Given the description of an element on the screen output the (x, y) to click on. 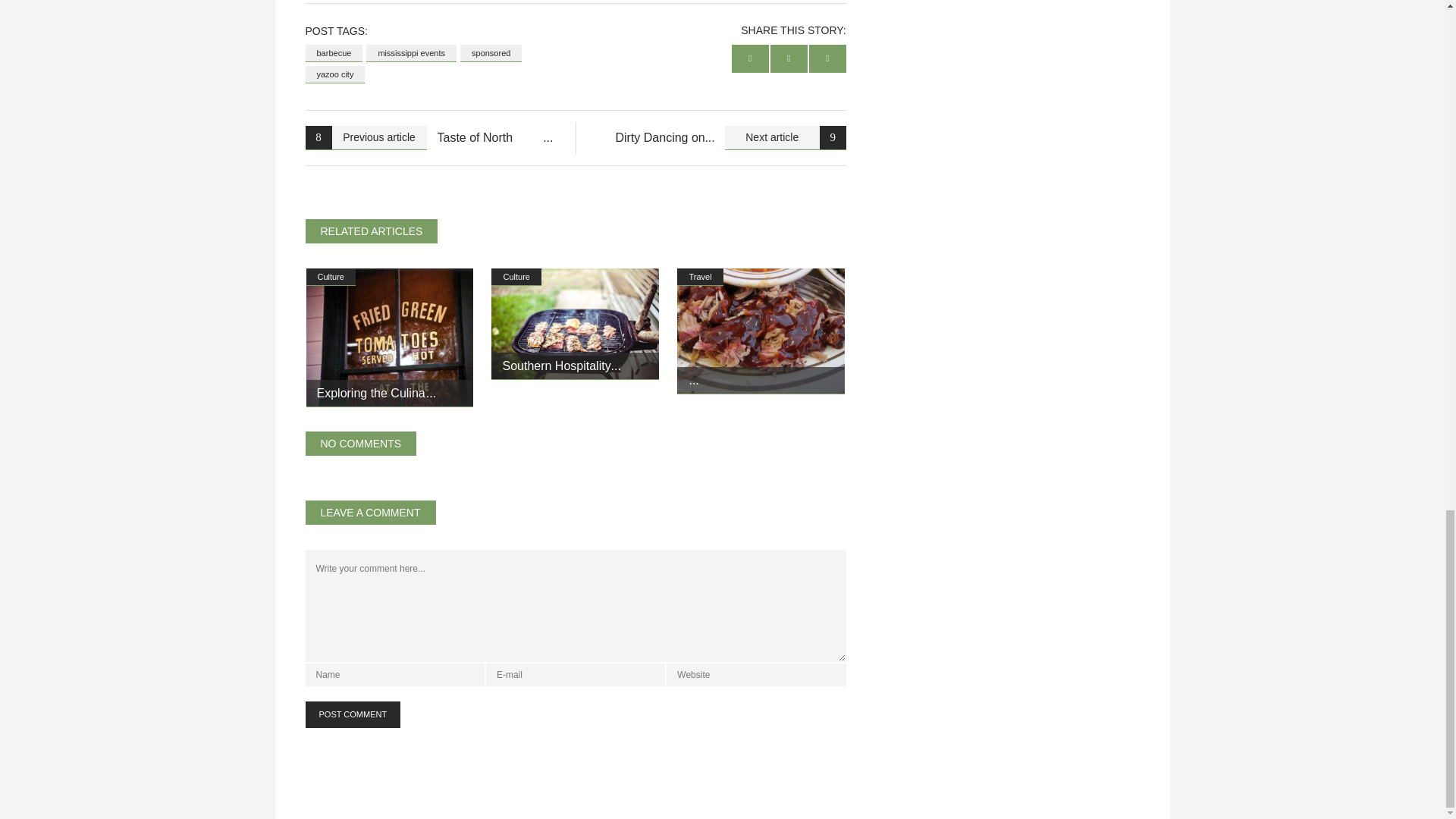
Exploring the Culinary Wonders of the South (389, 337)
POST COMMENT (352, 714)
Exploring the Culinary Wonders of the South (376, 392)
